Given the description of an element on the screen output the (x, y) to click on. 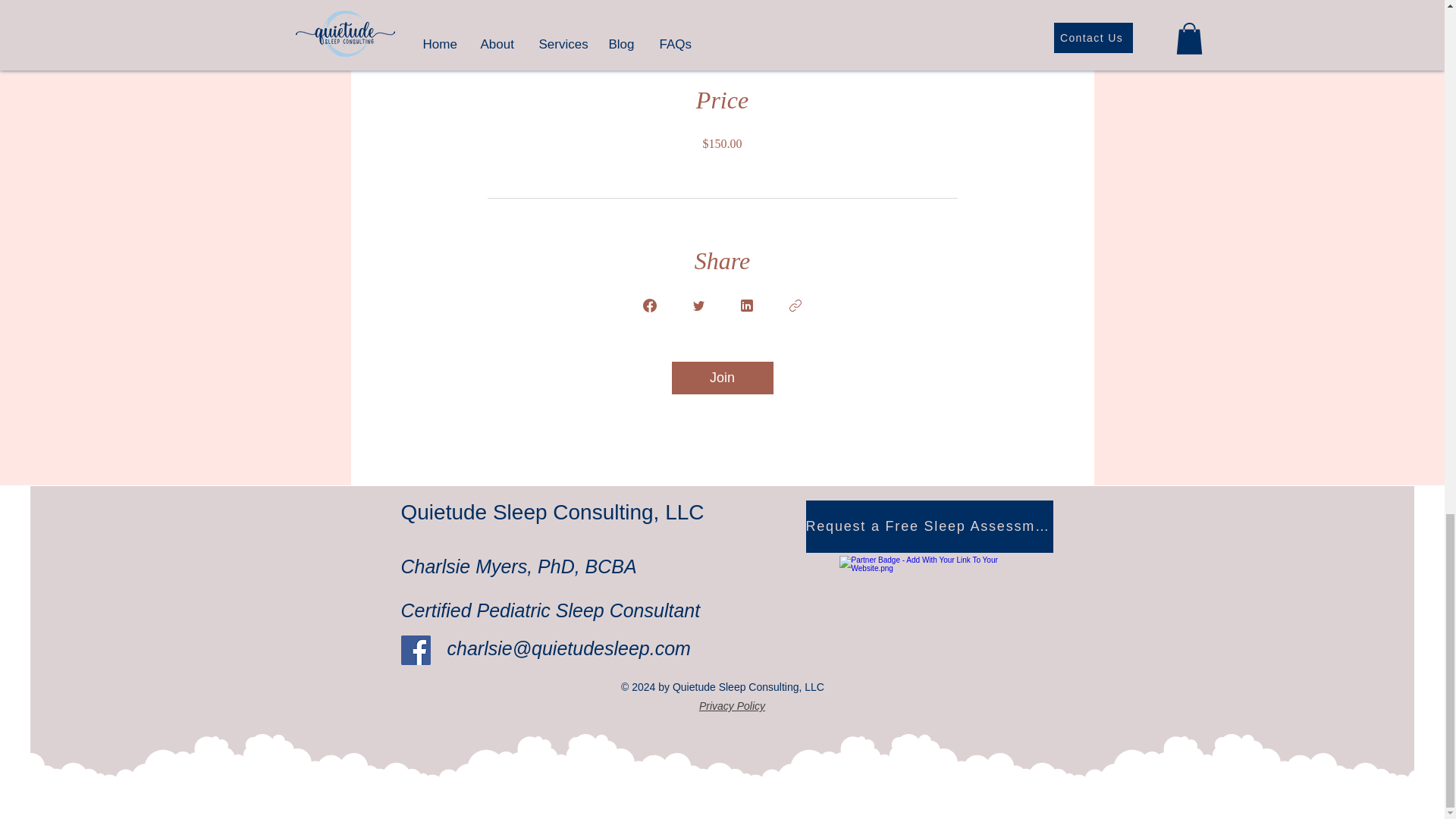
Request a Free Sleep Assessment (928, 526)
Join (722, 377)
Privacy Policy (731, 706)
